Given the description of an element on the screen output the (x, y) to click on. 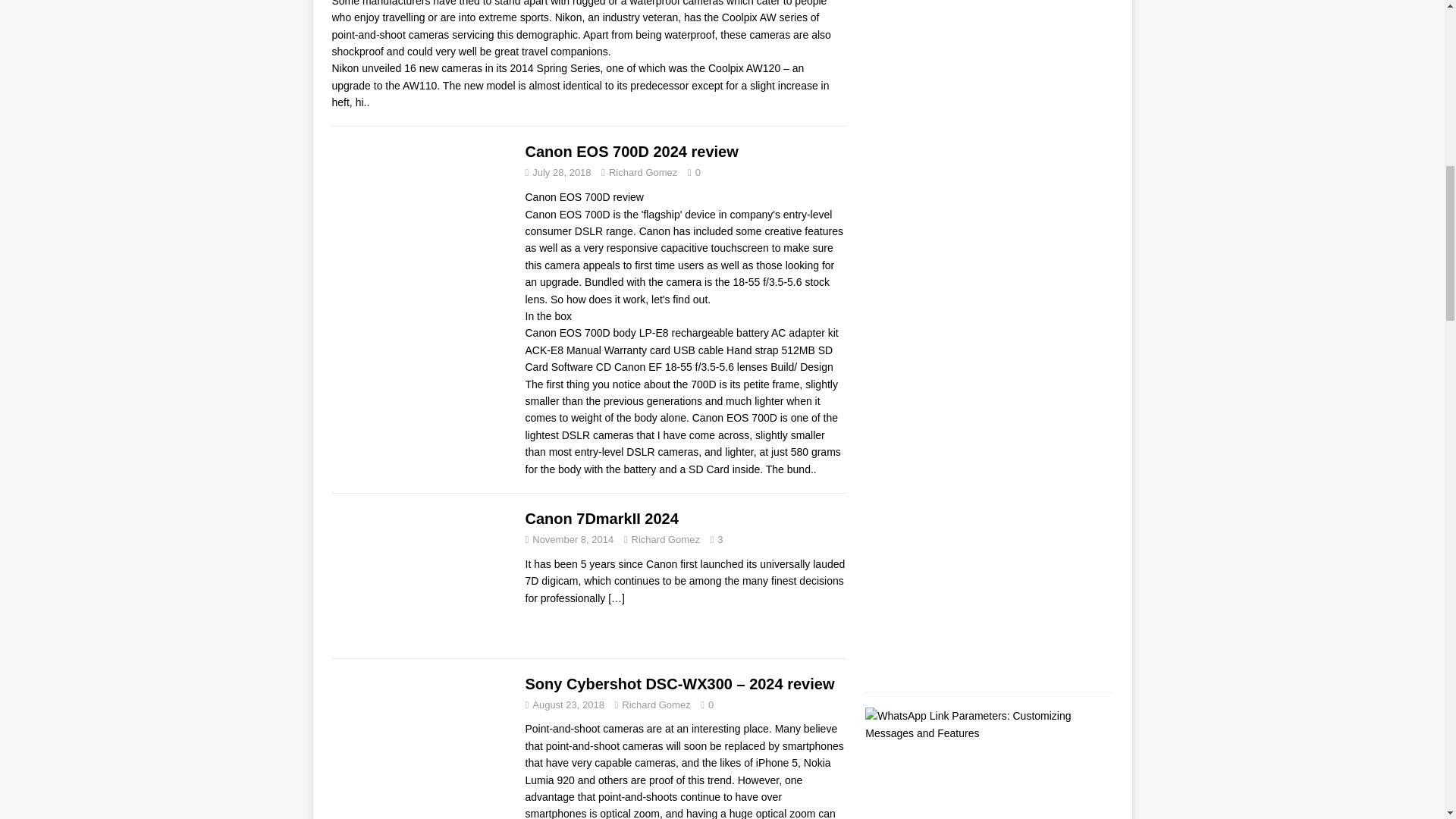
Richard Gomez (642, 172)
Canon 7DmarkII 2024 (601, 518)
Richard Gomez (655, 704)
Canon EOS 700D 2024 review (631, 151)
Richard Gomez (665, 539)
